Given the description of an element on the screen output the (x, y) to click on. 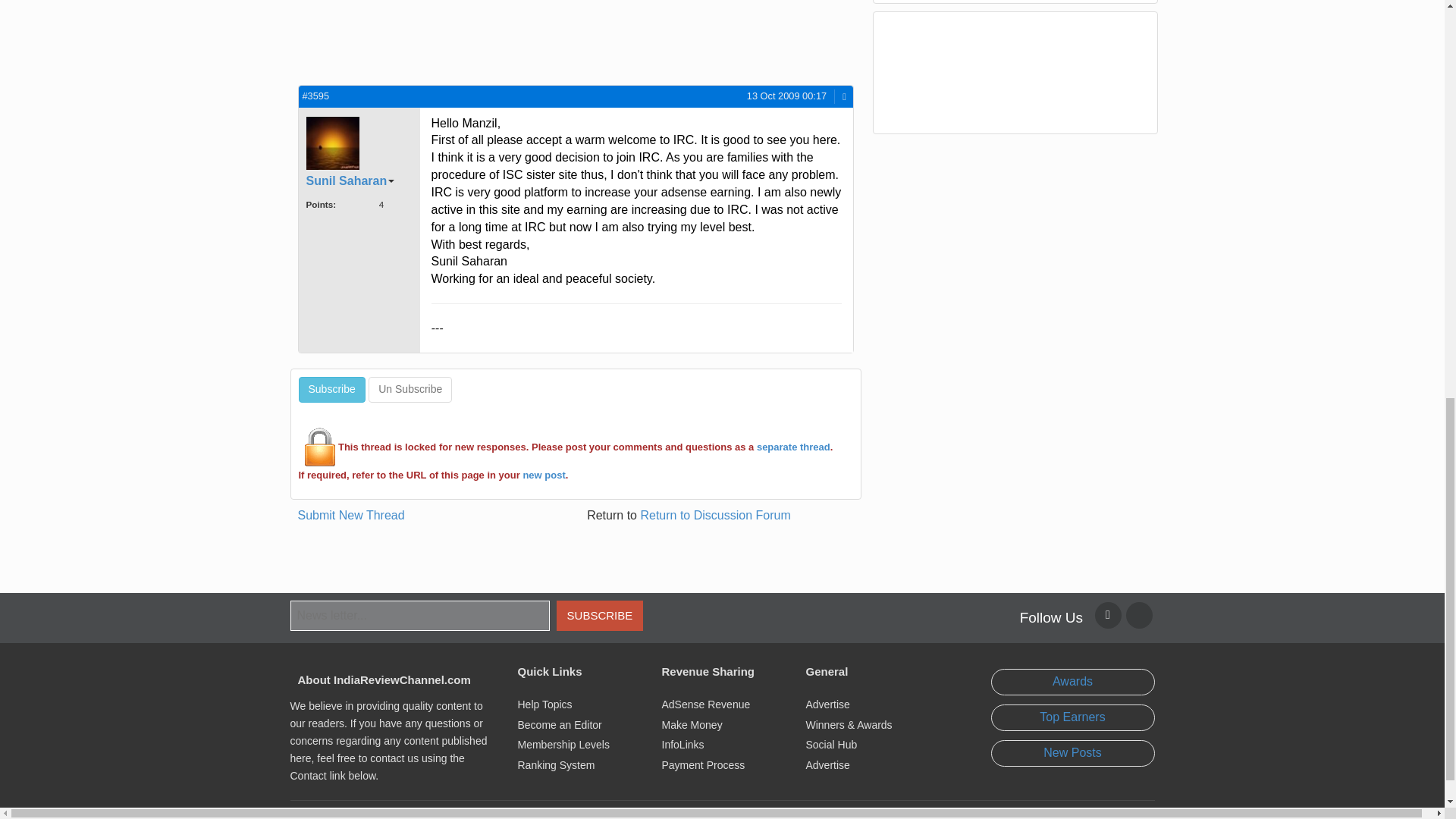
Advertisement (432, 40)
Subscribe (331, 389)
Un Subscribe (409, 389)
